Given the description of an element on the screen output the (x, y) to click on. 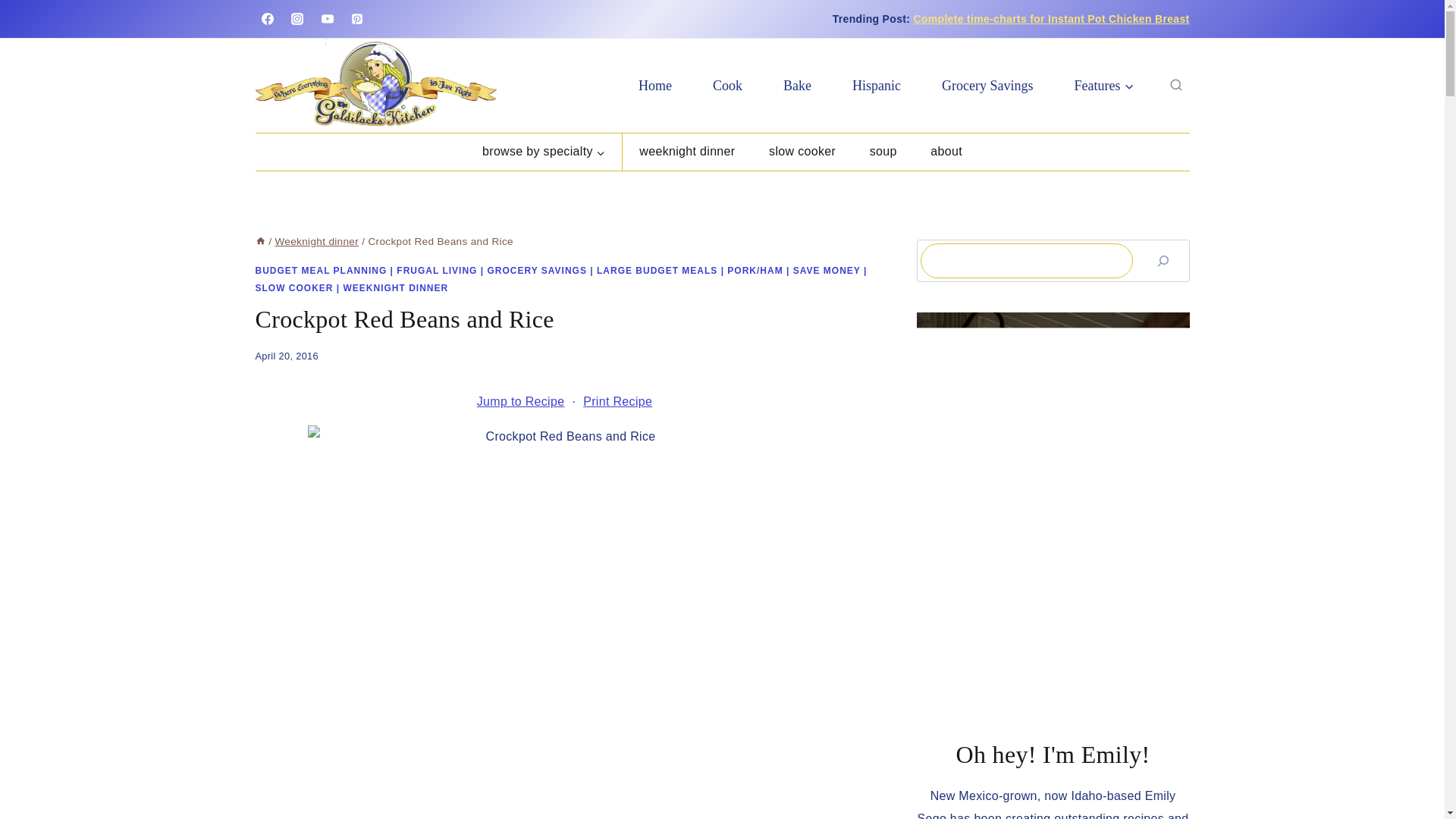
soup (882, 152)
Home (259, 241)
BUDGET MEAL PLANNING (320, 270)
LARGE BUDGET MEALS (656, 270)
SAVE MONEY (826, 270)
Complete time-charts for Instant Pot Chicken Breast (1050, 19)
weeknight dinner (687, 152)
Jump to Recipe (520, 401)
Bake (796, 85)
slow cooker (802, 152)
SLOW COOKER (293, 287)
about (946, 152)
Cook (727, 85)
Features (1104, 85)
Grocery Savings (986, 85)
